Given the description of an element on the screen output the (x, y) to click on. 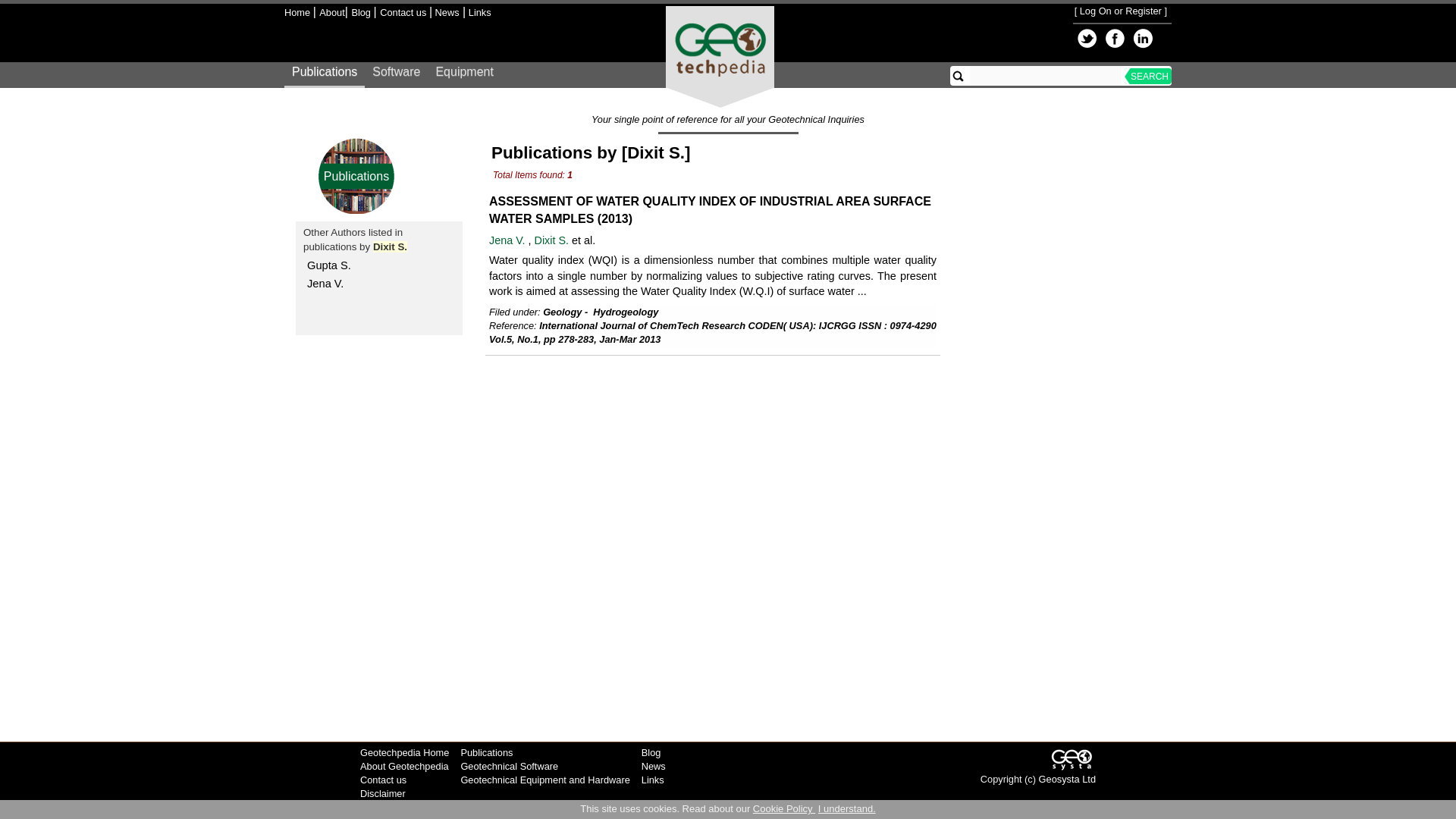
About Geotechpedia (403, 766)
Publications (324, 75)
Geology (561, 311)
Contact us (404, 12)
Search Geotechpedia (958, 75)
News (653, 766)
Publications (356, 175)
Blog (361, 12)
Dixit S. (553, 240)
News (446, 12)
